Given the description of an element on the screen output the (x, y) to click on. 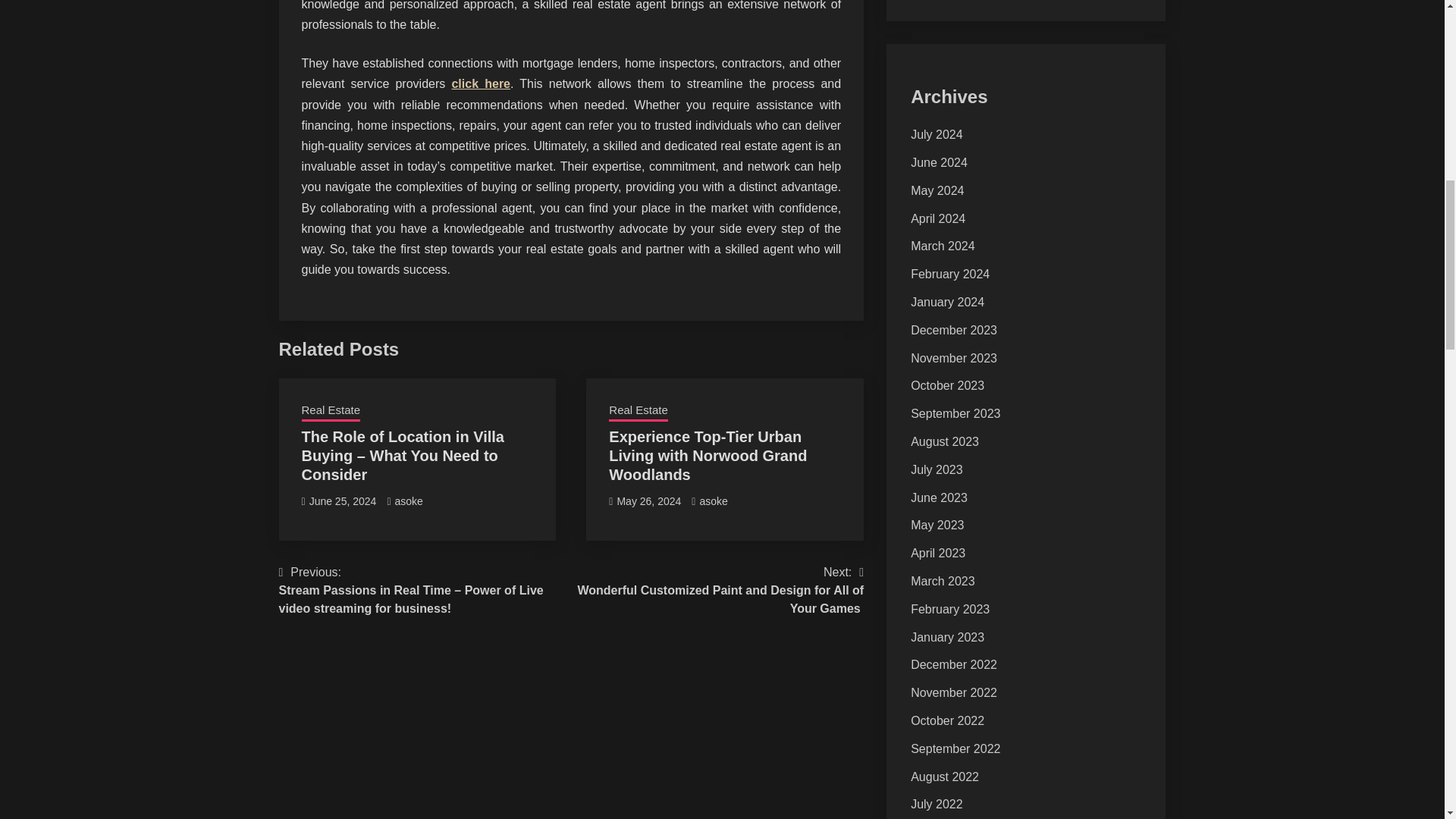
May 2024 (937, 190)
June 2024 (939, 162)
asoke (408, 500)
Real Estate (331, 411)
June 25, 2024 (342, 500)
July 2024 (936, 133)
asoke (712, 500)
Real Estate (638, 411)
April 2024 (938, 218)
May 26, 2024 (648, 500)
click here (481, 83)
